Given the description of an element on the screen output the (x, y) to click on. 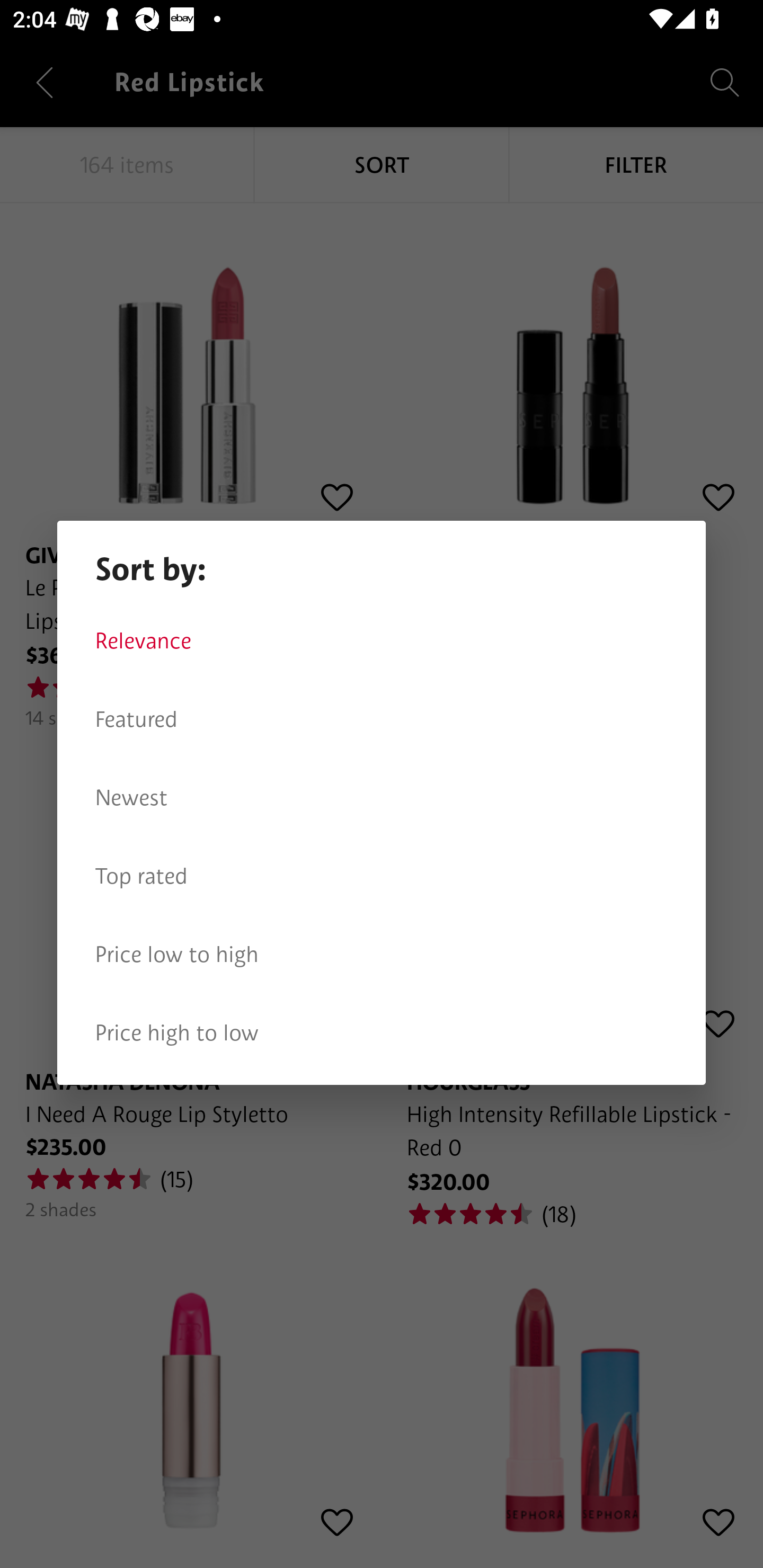
Relevance (381, 641)
Featured (381, 719)
Newest (381, 797)
Top rated (381, 876)
Price low to high (381, 954)
Price high to low (381, 1033)
